Given the description of an element on the screen output the (x, y) to click on. 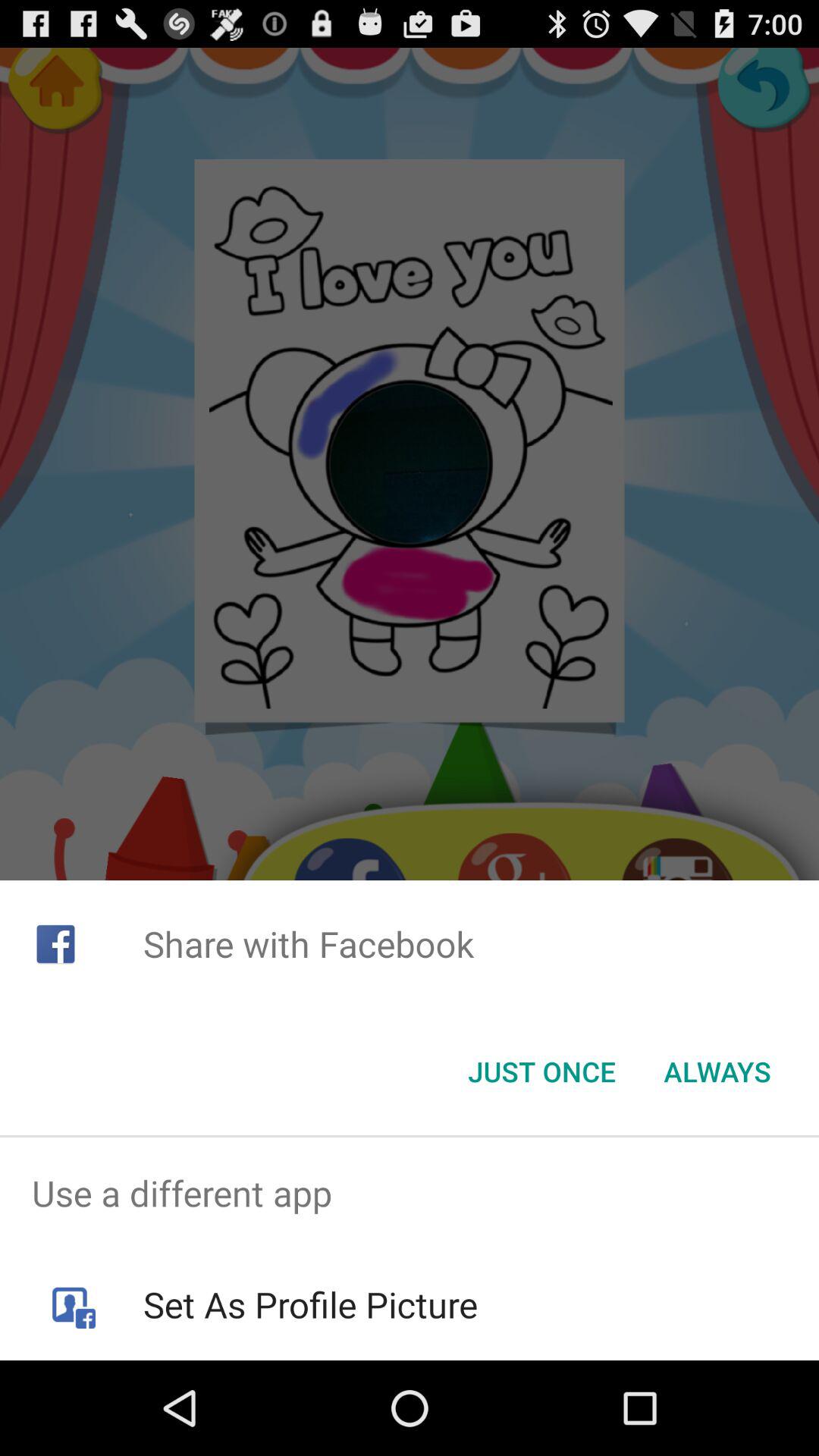
choose the icon below use a different item (310, 1304)
